Given the description of an element on the screen output the (x, y) to click on. 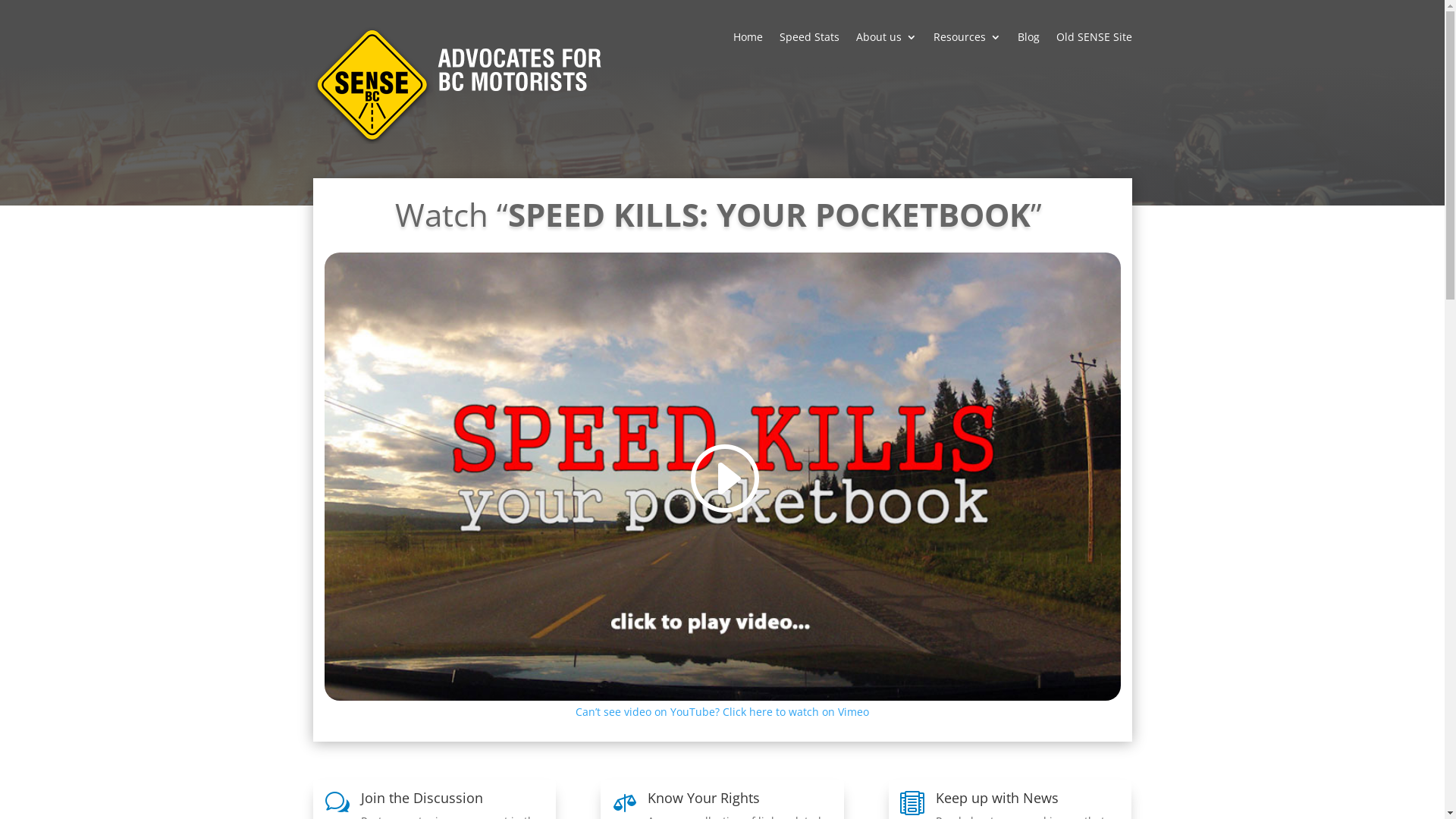
Old SENSE Site Element type: text (1093, 47)
Resources Element type: text (966, 47)
Speed Kills Your Pocketbook Element type: hover (722, 476)
Home Element type: text (747, 47)
Speed Stats Element type: text (809, 47)
About us Element type: text (885, 47)
Blog Element type: text (1028, 47)
